Given the description of an element on the screen output the (x, y) to click on. 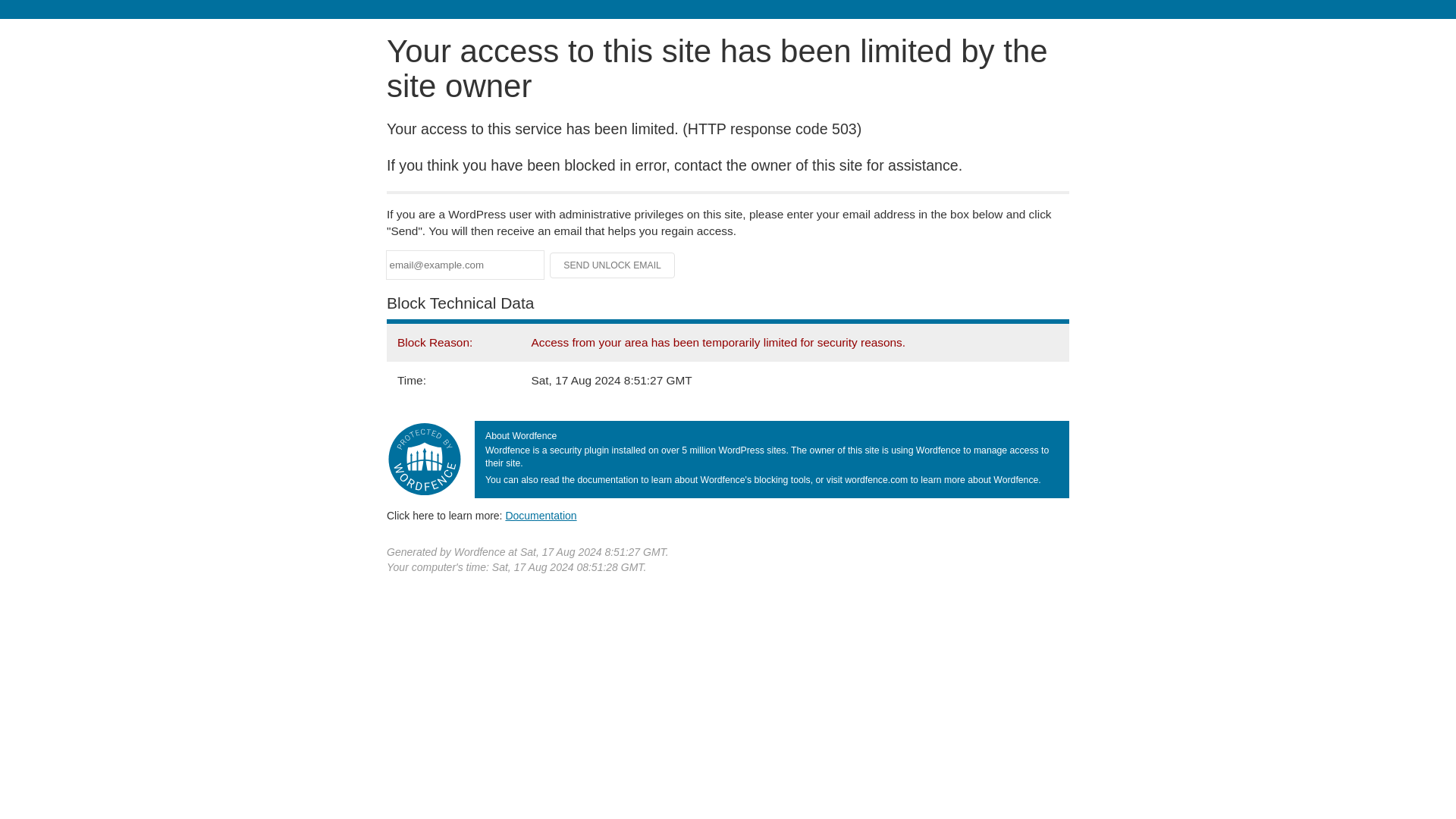
Send Unlock Email (612, 265)
Documentation (540, 515)
Send Unlock Email (612, 265)
